Given the description of an element on the screen output the (x, y) to click on. 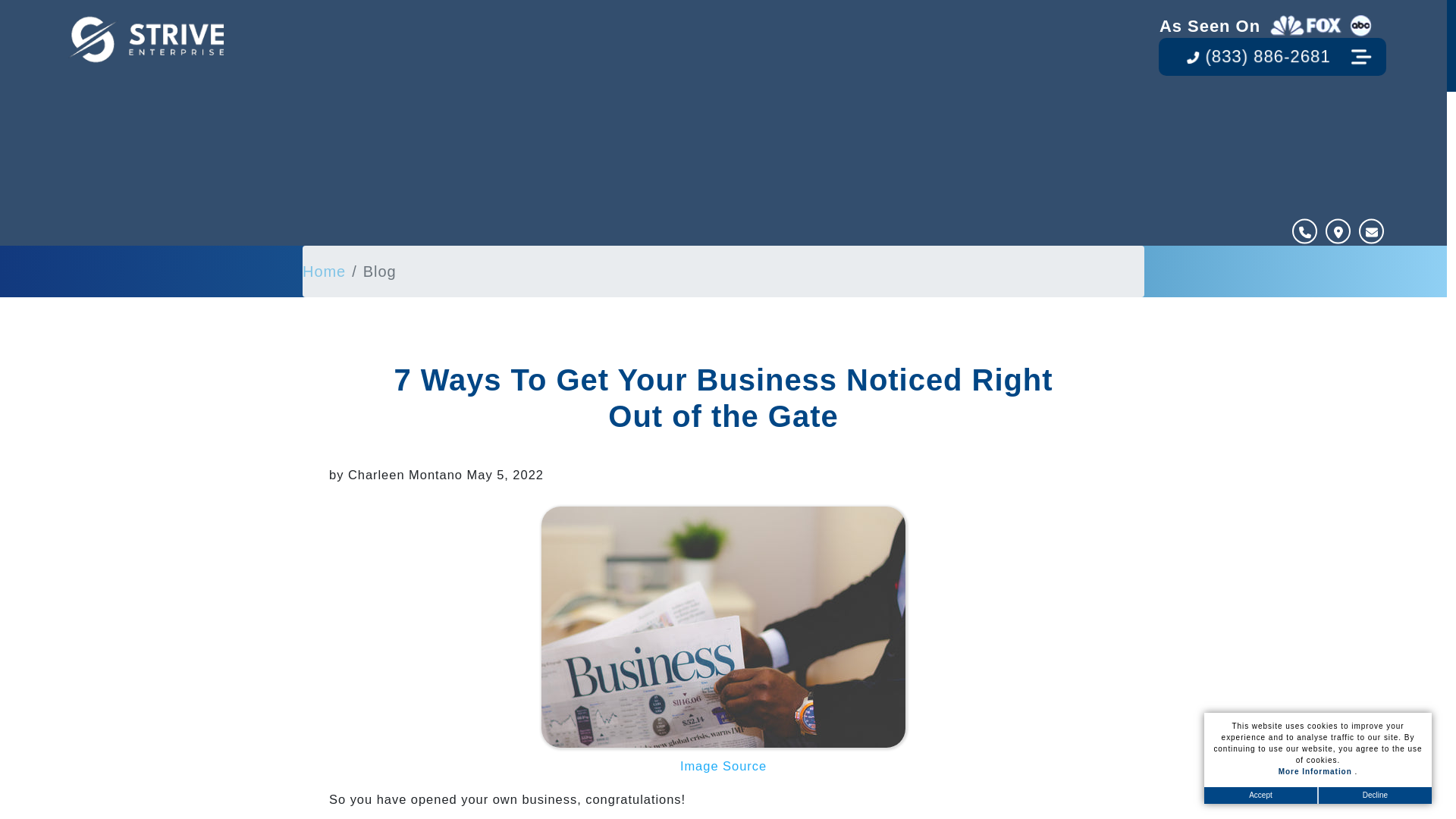
More Information (1316, 771)
Decline (1374, 795)
Accept (1260, 795)
